Given the description of an element on the screen output the (x, y) to click on. 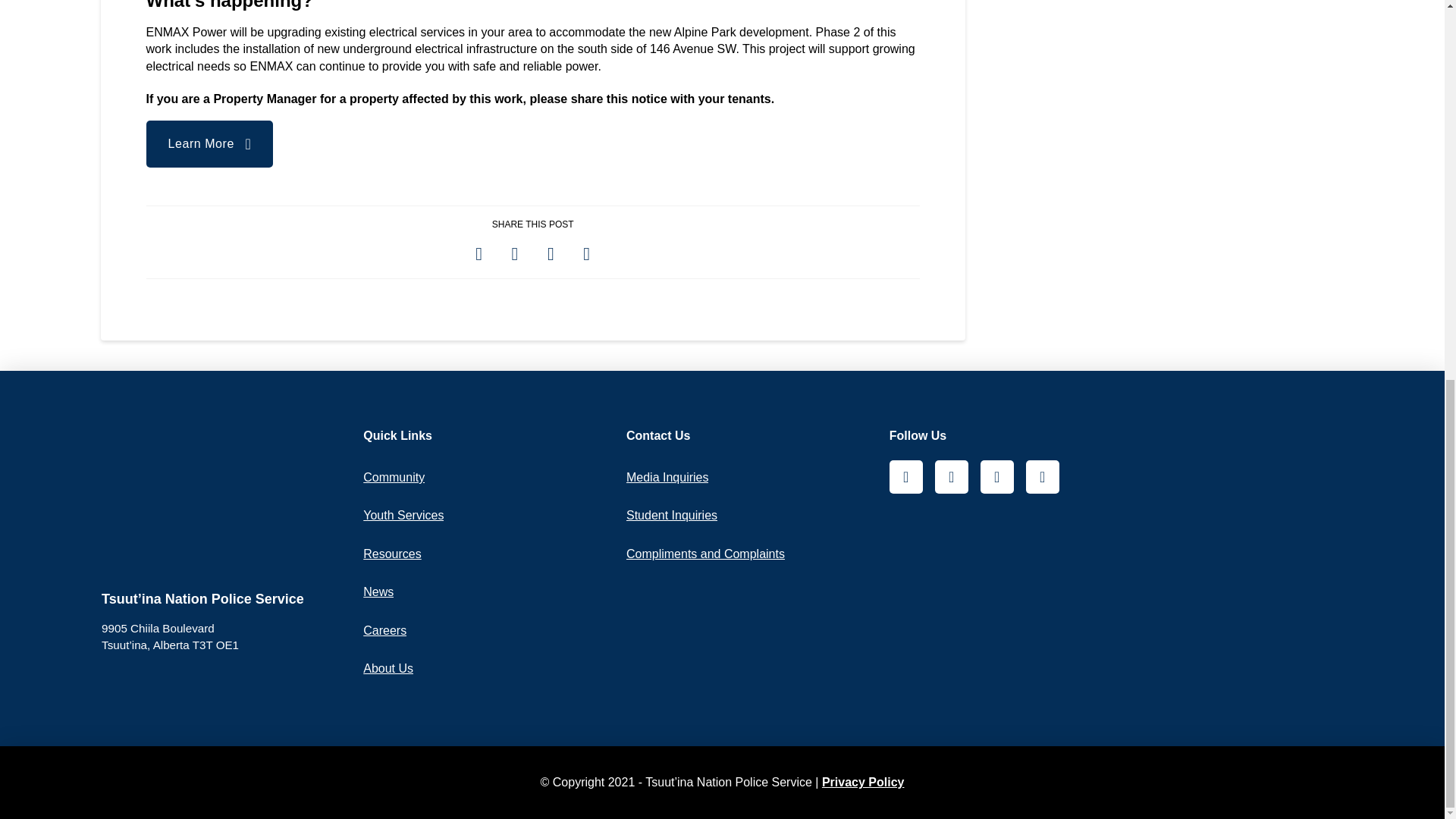
Community (393, 477)
Learn More (208, 143)
